Given the description of an element on the screen output the (x, y) to click on. 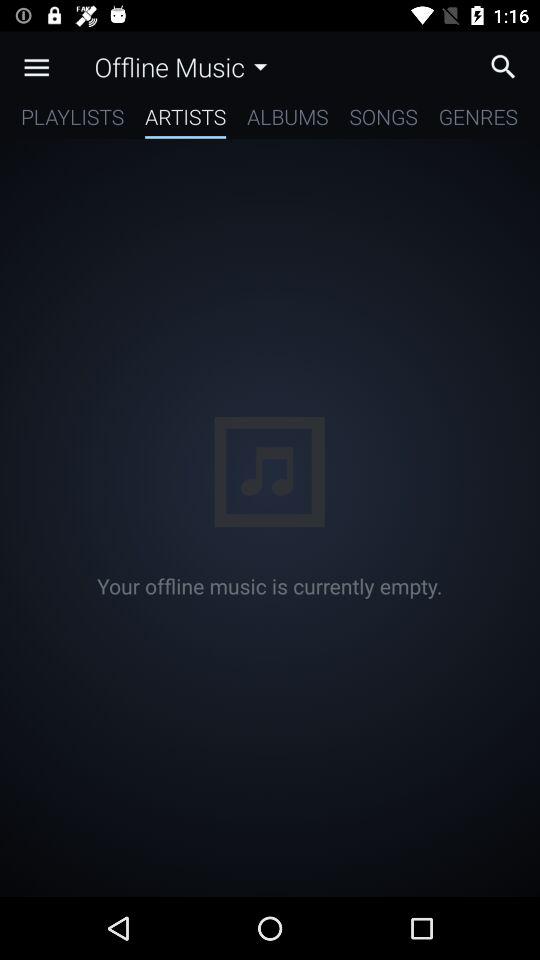
click search option (508, 66)
